Given the description of an element on the screen output the (x, y) to click on. 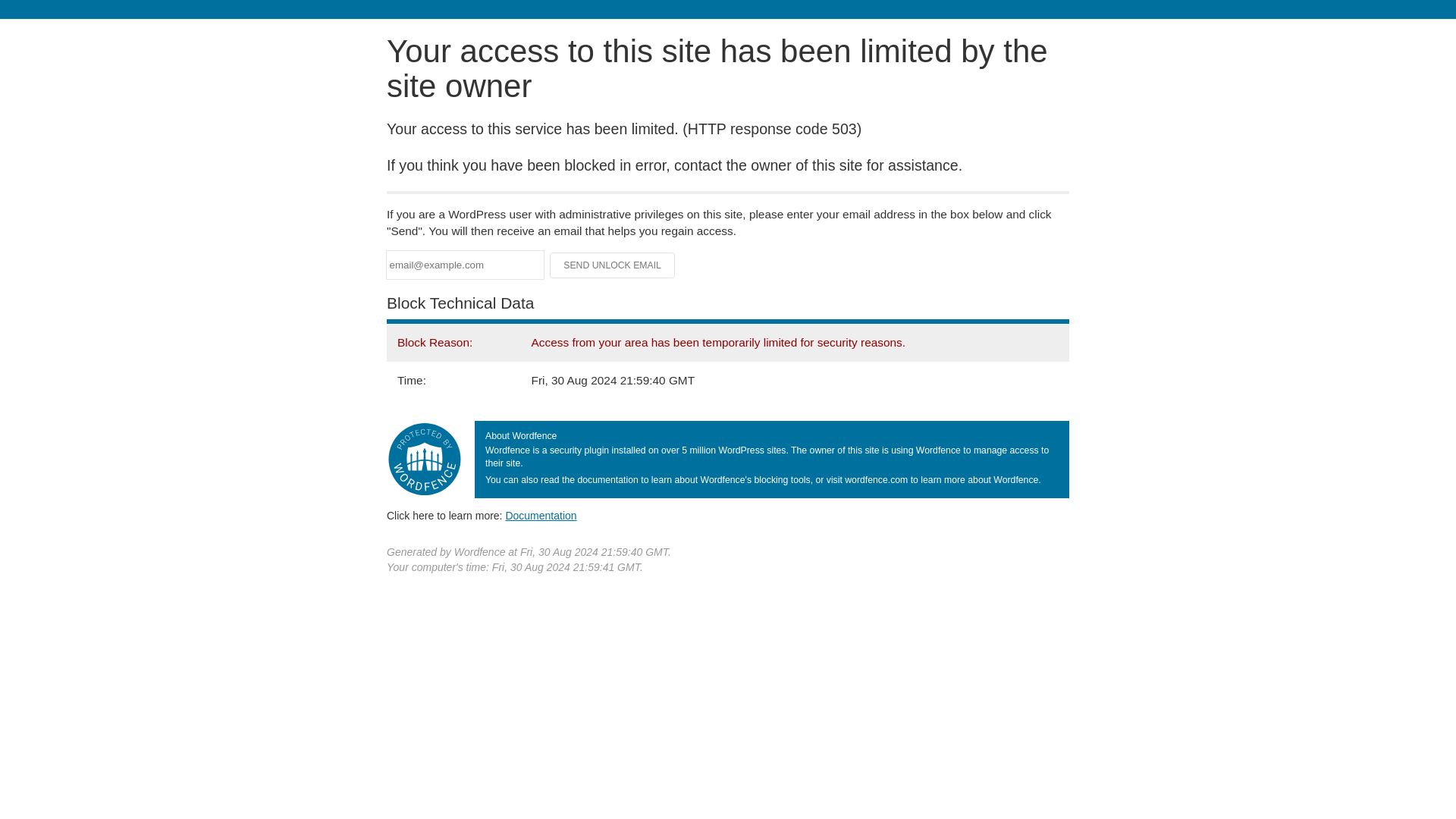
Send Unlock Email (612, 265)
Documentation (540, 515)
Send Unlock Email (612, 265)
